Given the description of an element on the screen output the (x, y) to click on. 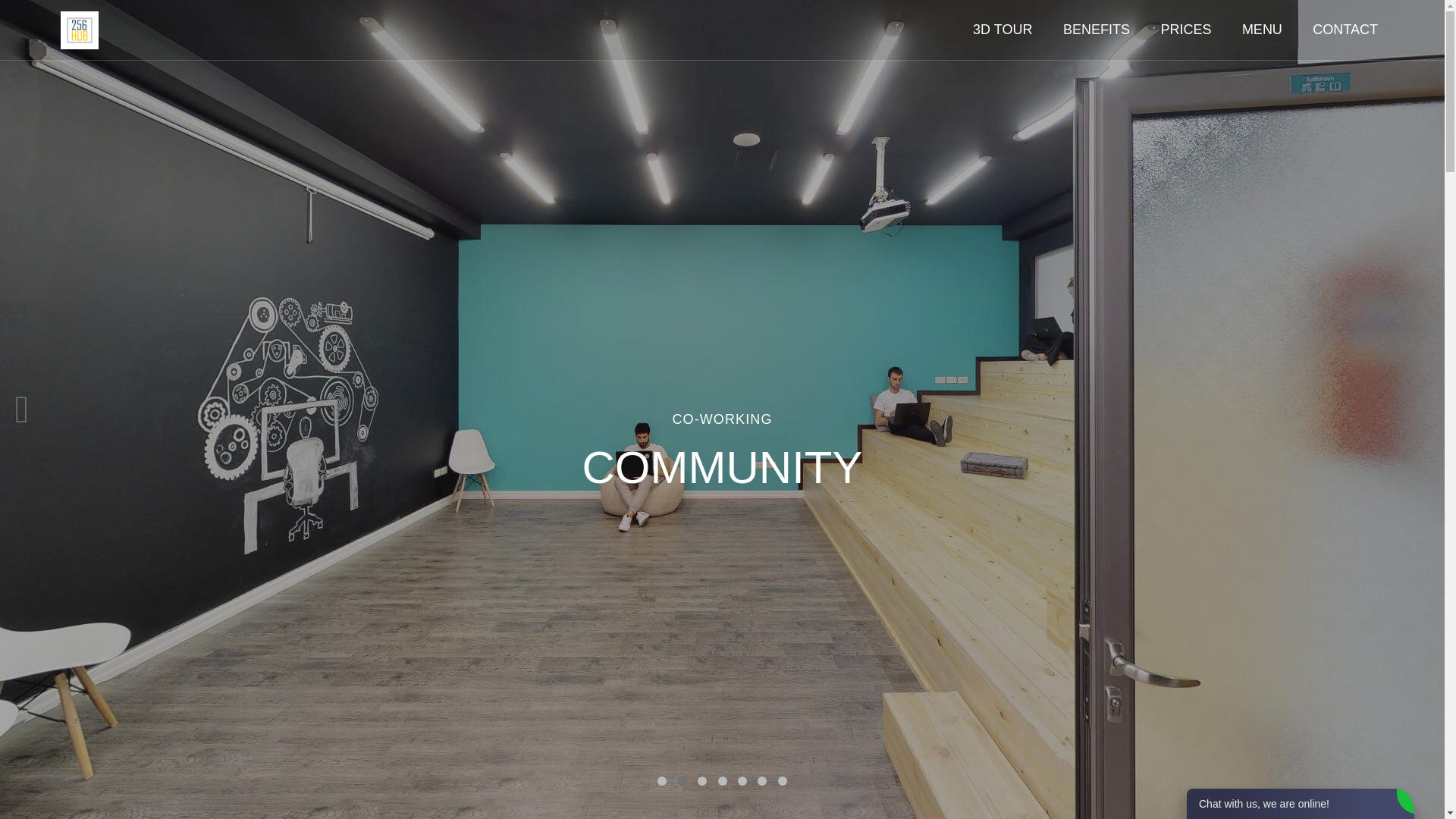
3D TOUR Element type: text (994, 29)
BENEFITS Element type: text (1088, 29)
PRICES Element type: text (1178, 29)
CONTACT Element type: text (1337, 29)
MENU Element type: text (1254, 29)
